Given the description of an element on the screen output the (x, y) to click on. 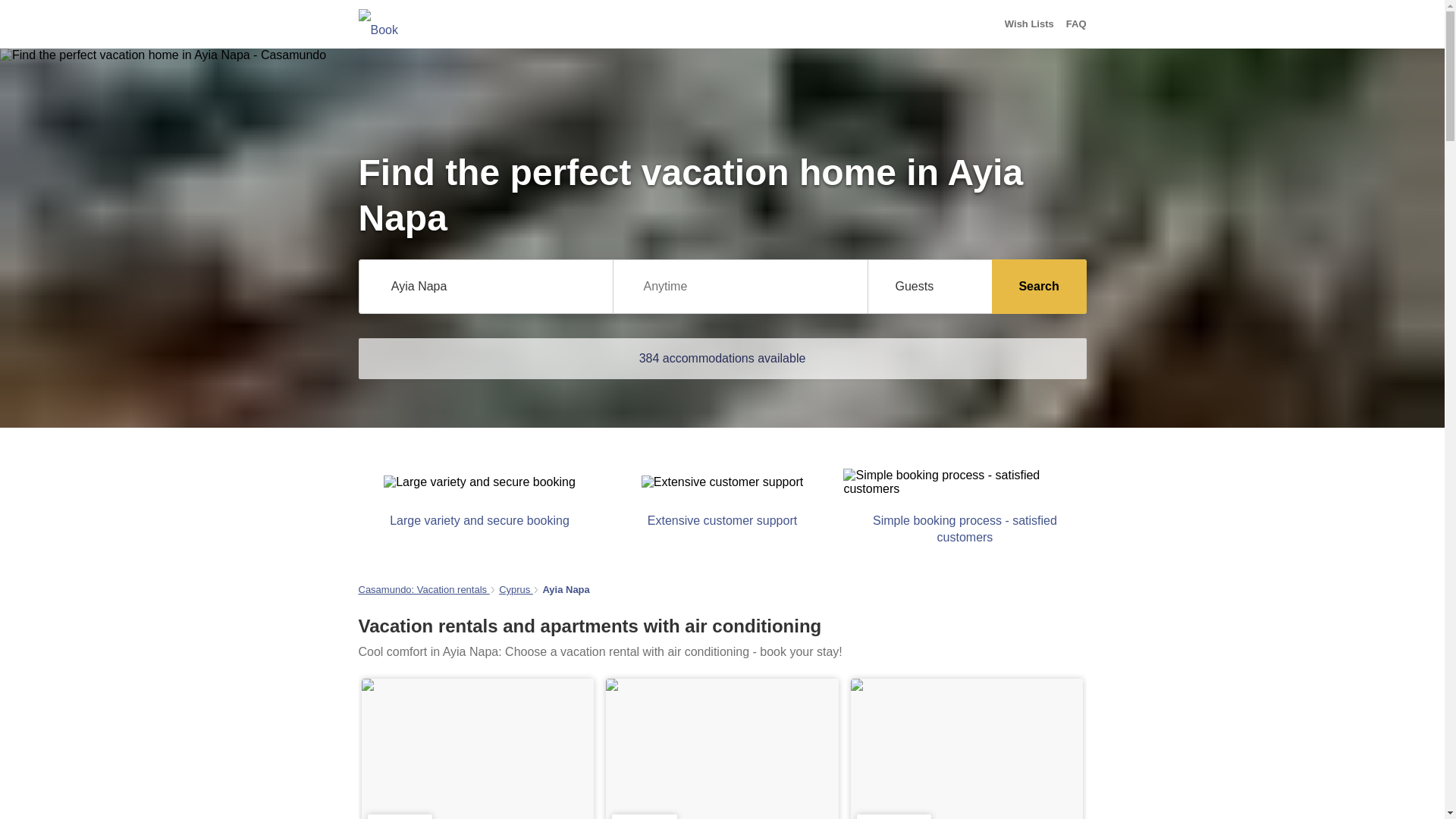
Casamundo: Vacation rentals (423, 589)
Casamundo: Vacation rentals (423, 589)
Search (1038, 286)
Cyprus (515, 589)
Cyprus (515, 589)
Wish Lists (1029, 24)
